Given the description of an element on the screen output the (x, y) to click on. 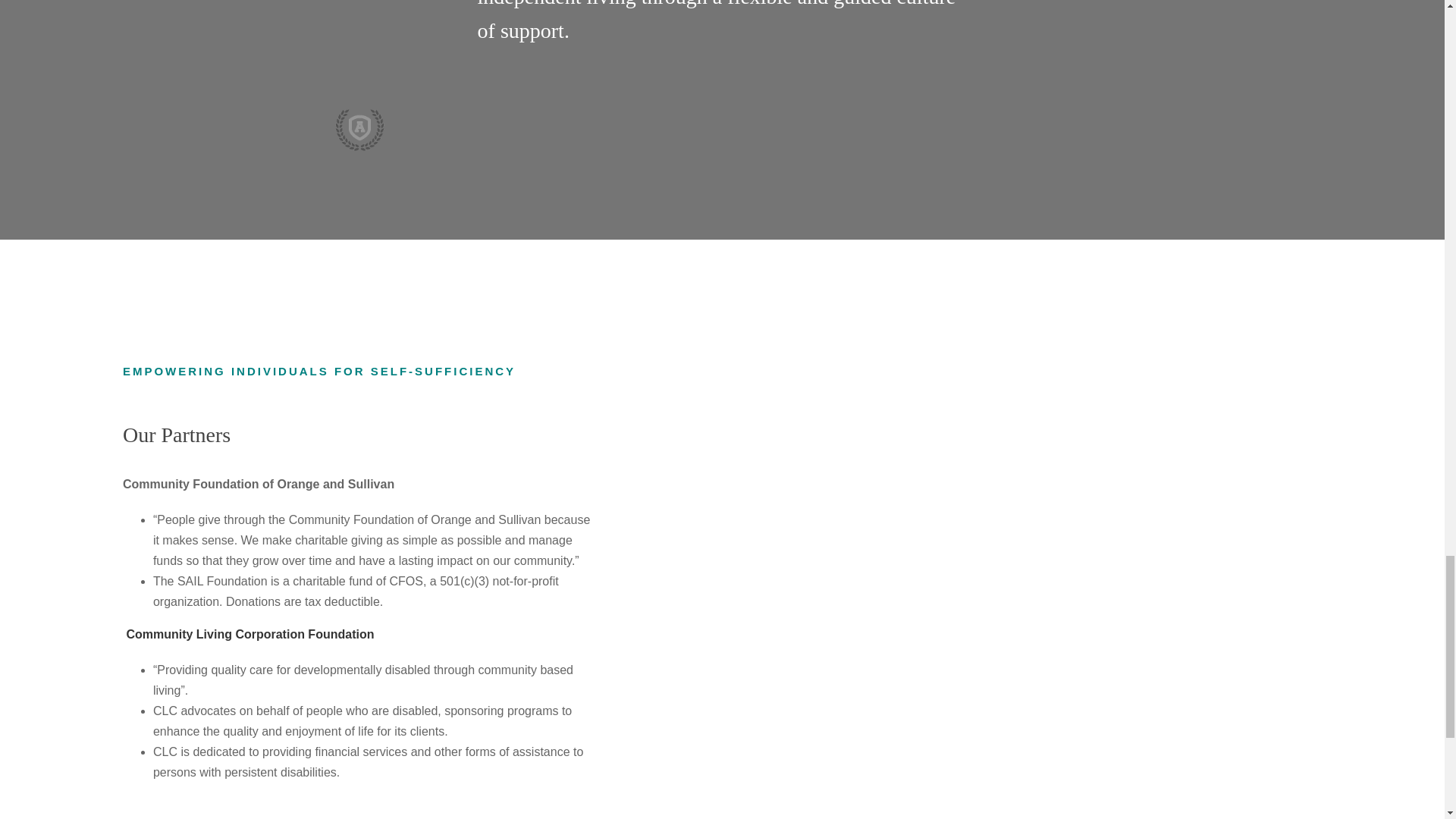
Community Living Corporation Foundation (249, 634)
